Given the description of an element on the screen output the (x, y) to click on. 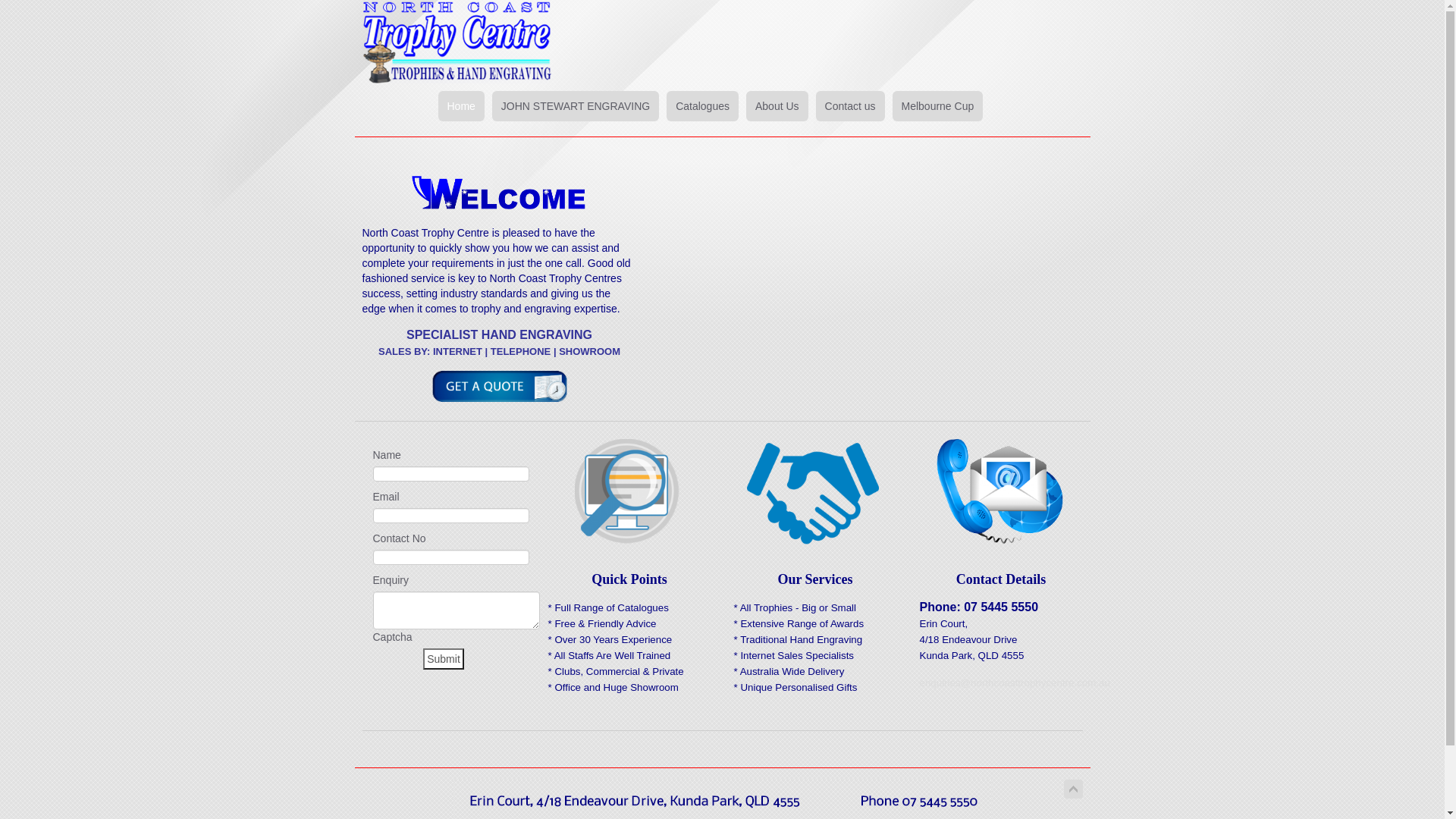
JOHN STEWART ENGRAVING Element type: text (575, 106)
Contact us Element type: text (849, 106)
Home Element type: text (461, 106)
About Us Element type: text (777, 106)
Submit Element type: text (443, 658)
Melbourne Cup Element type: text (936, 106)
Catalogues Element type: text (702, 106)
enquiries@northcoasttrophycentre.com.au Element type: text (1014, 682)
